Given the description of an element on the screen output the (x, y) to click on. 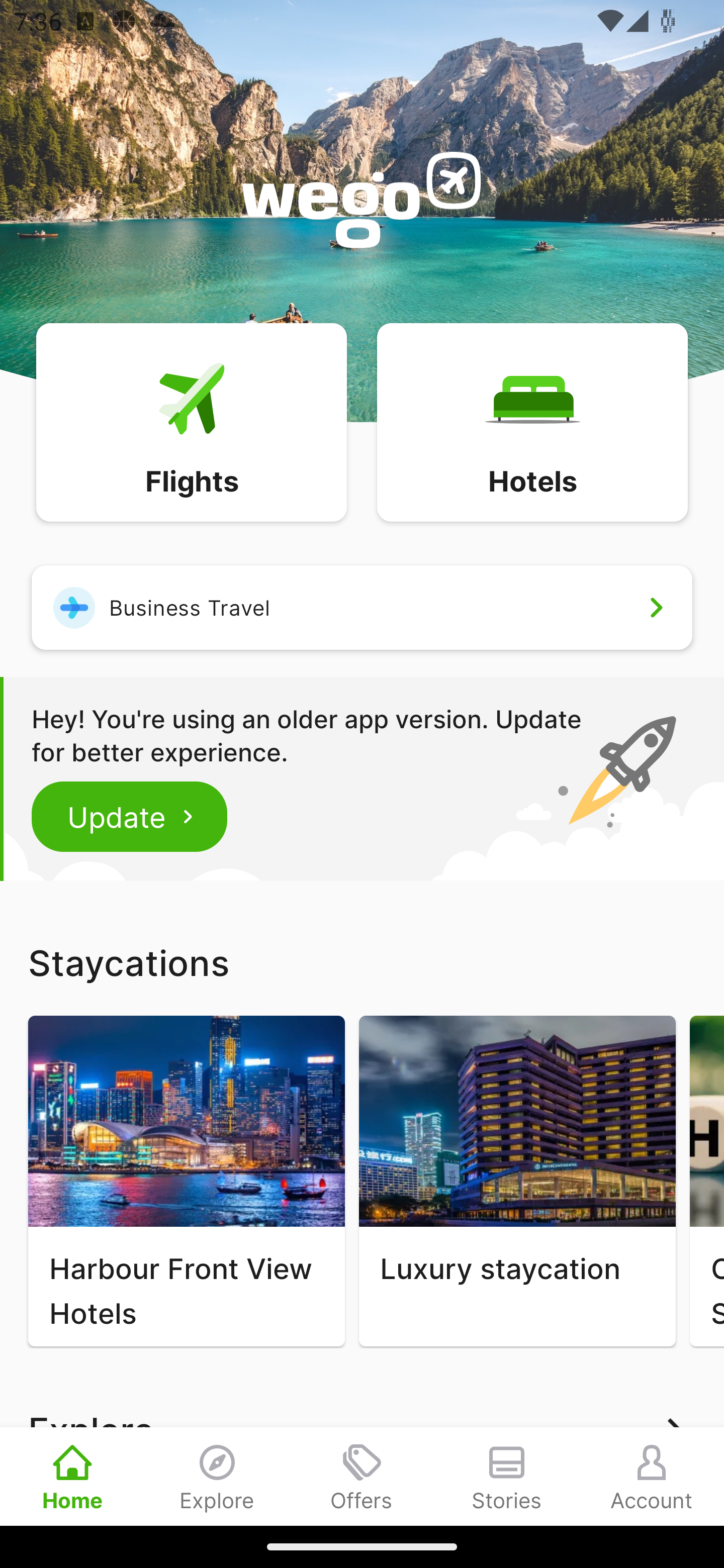
Flights (191, 420)
Hotels (532, 420)
Business Travel (361, 607)
Update (129, 815)
Staycations (362, 962)
Harbour Front View Hotels (186, 1181)
Luxury staycation (517, 1181)
Explore (216, 1475)
Offers (361, 1475)
Stories (506, 1475)
Account (651, 1475)
